Given the description of an element on the screen output the (x, y) to click on. 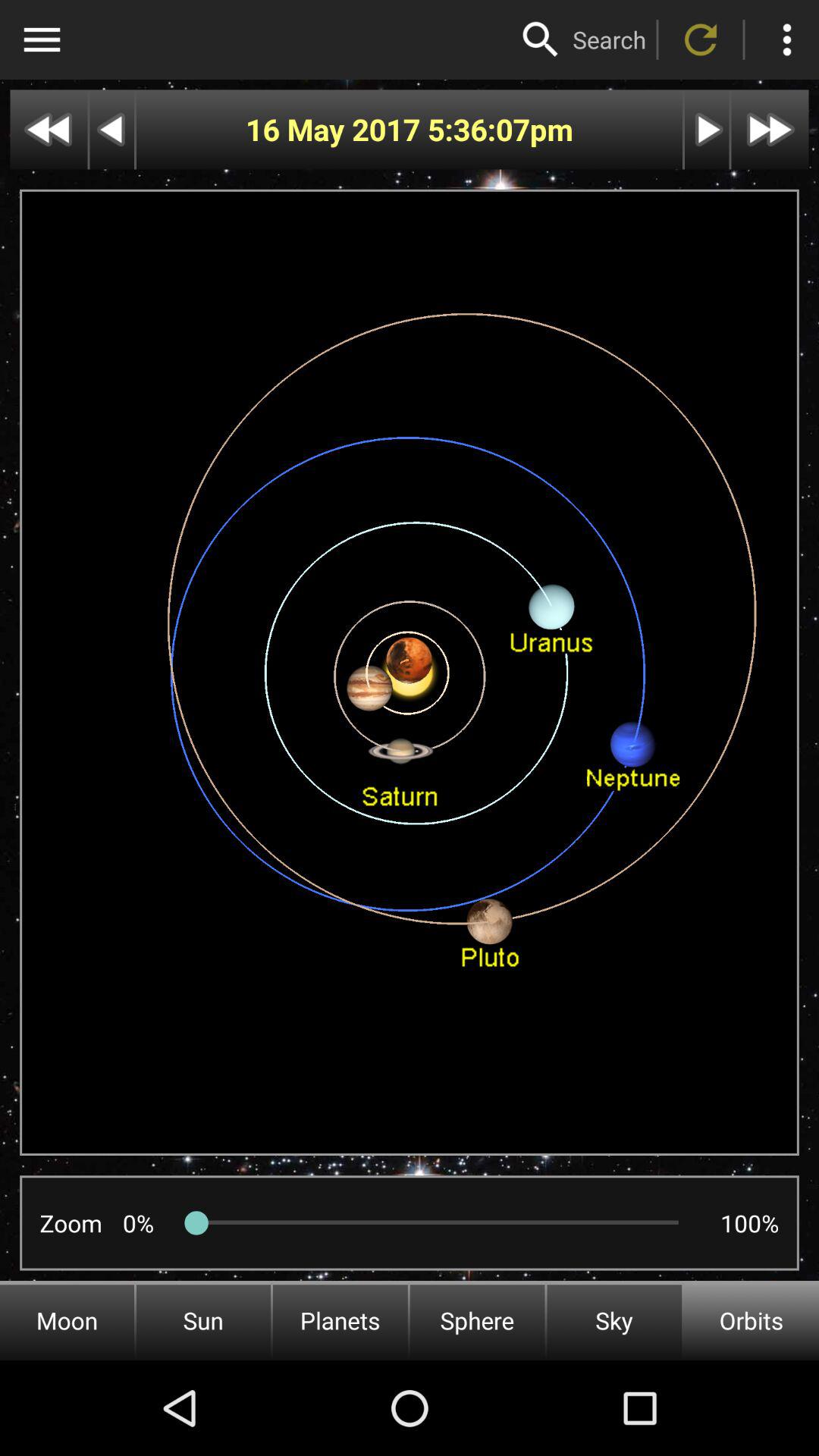
open more actions (787, 39)
